Given the description of an element on the screen output the (x, y) to click on. 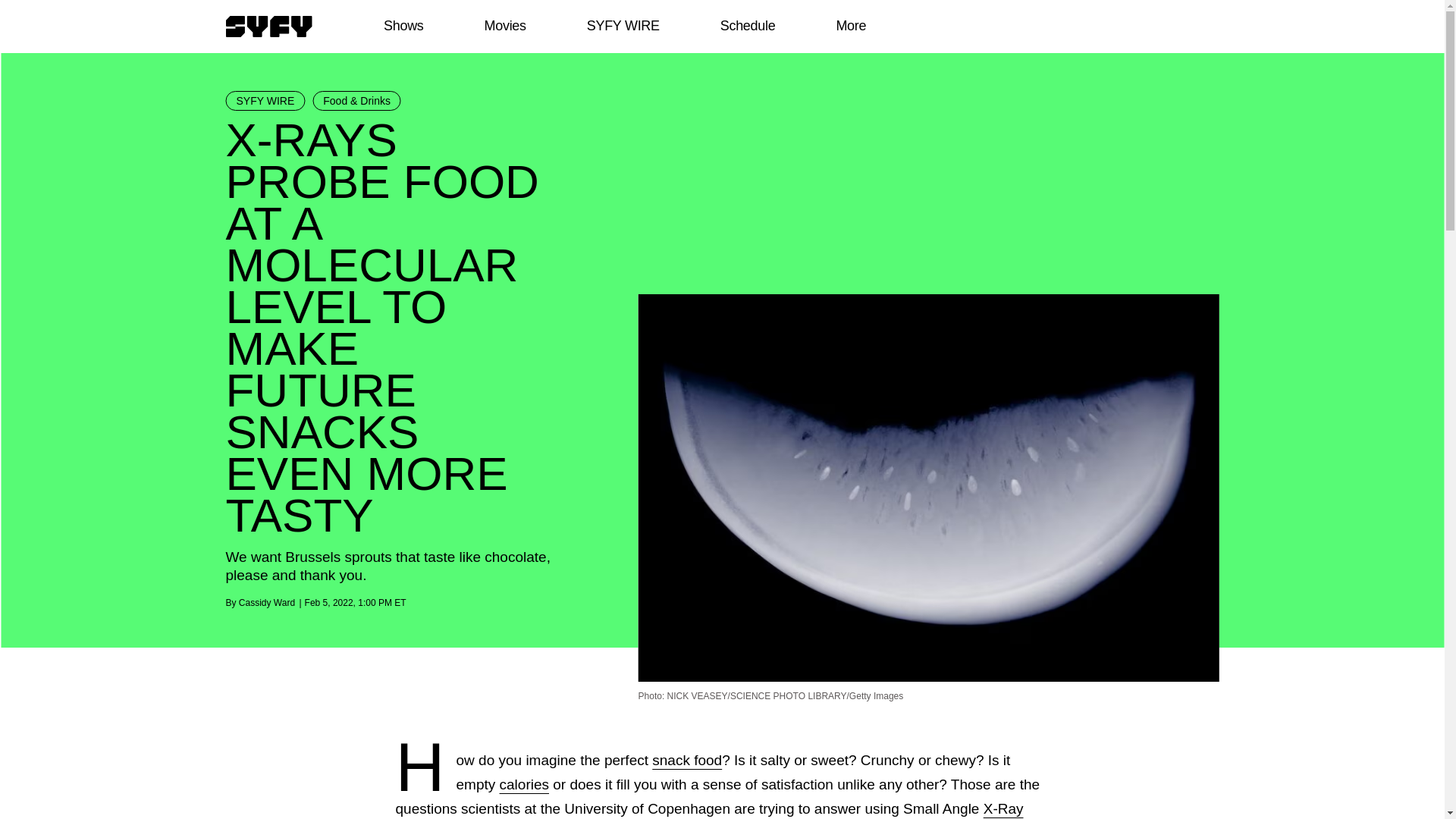
X-Ray (1003, 808)
More (850, 26)
calories (523, 784)
snack food (687, 760)
Shows (403, 26)
Schedule (746, 26)
SYFY WIRE (265, 100)
Movies (504, 26)
Cassidy Ward (266, 602)
